Given the description of an element on the screen output the (x, y) to click on. 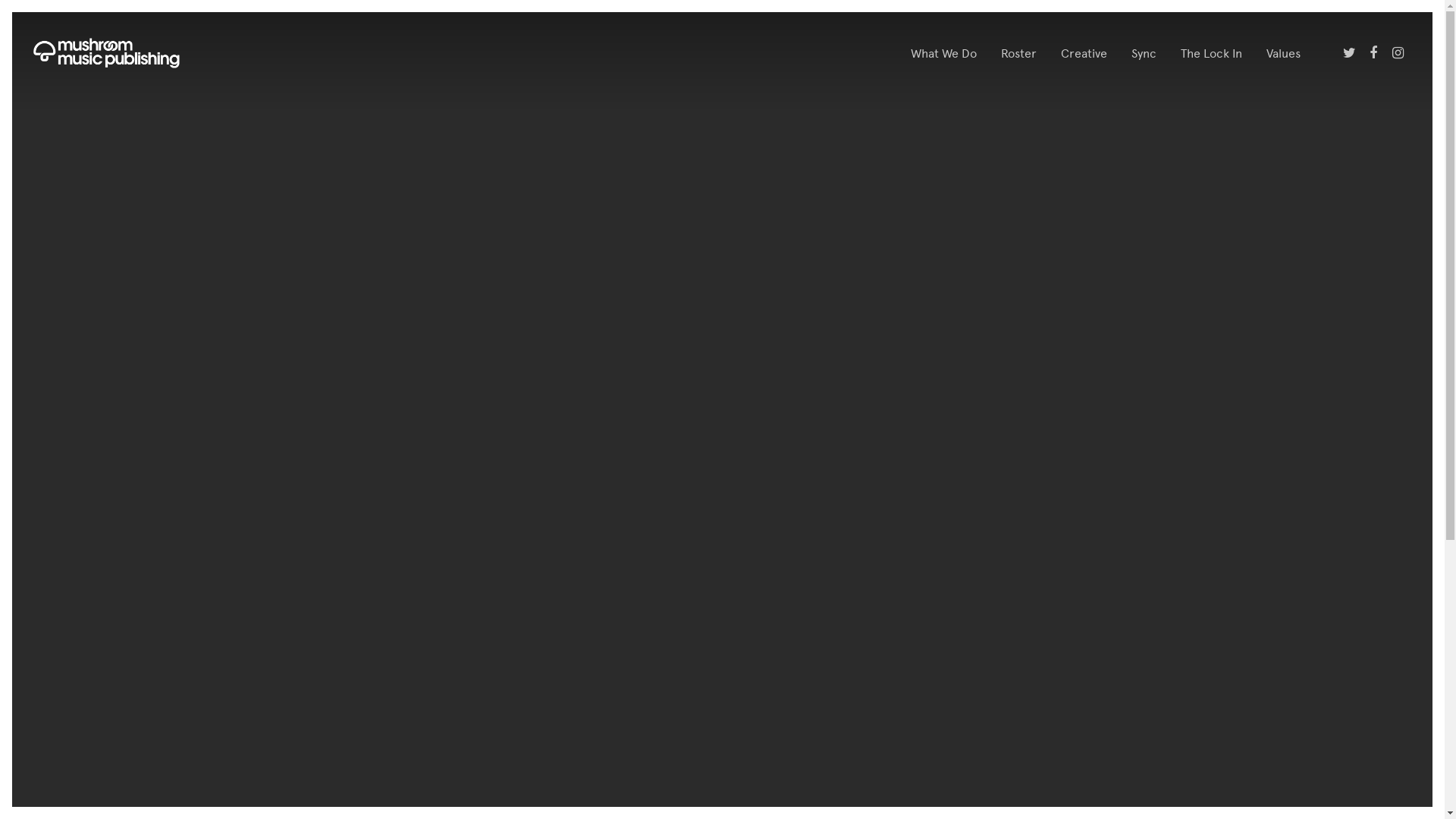
Sync Element type: text (1143, 53)
Creative Element type: text (1083, 53)
What We Do Element type: text (943, 53)
Values Element type: text (1283, 53)
Roster Element type: text (1018, 53)
The Lock In Element type: text (1211, 53)
